Given the description of an element on the screen output the (x, y) to click on. 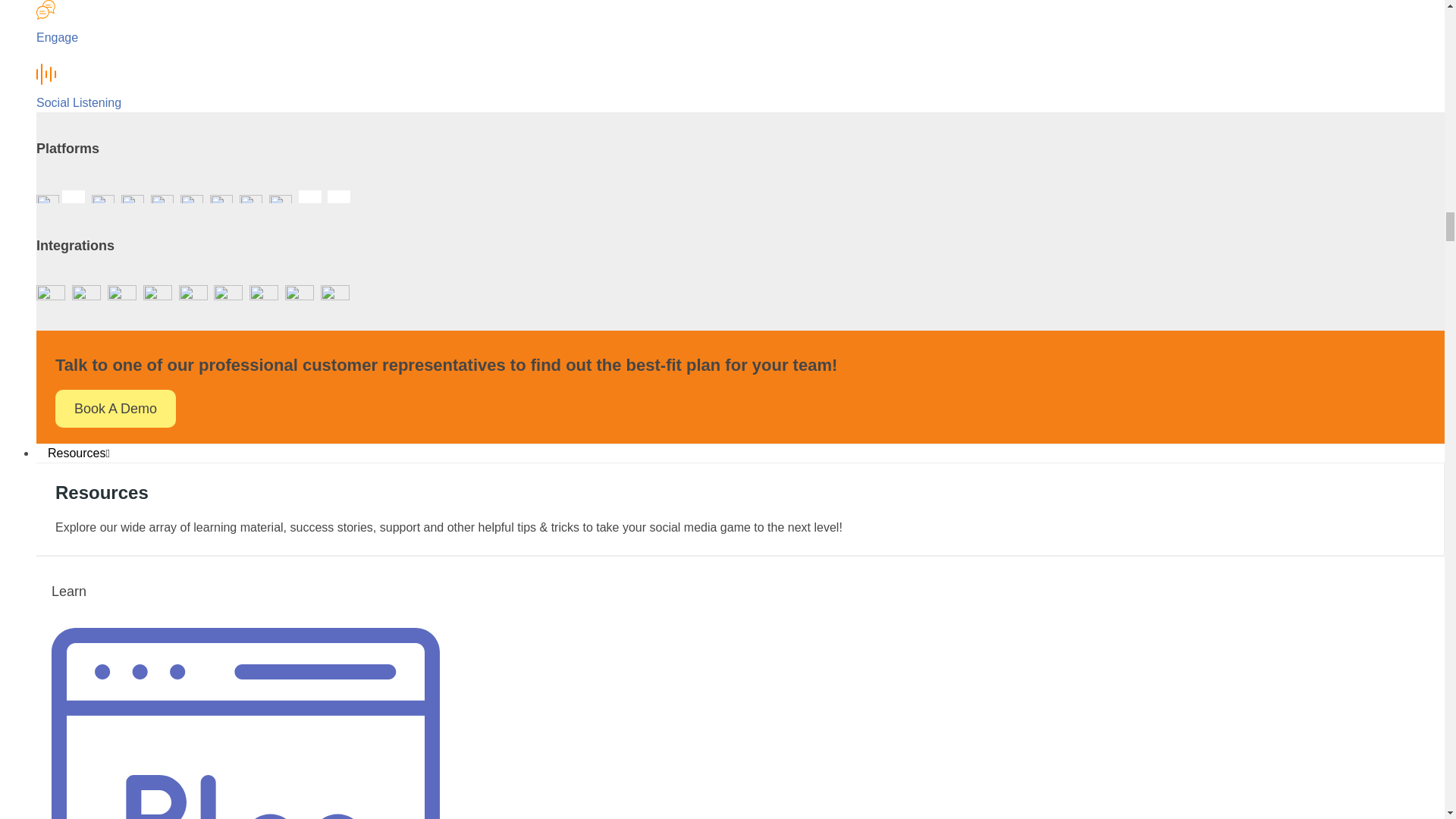
Engage (57, 37)
Social Listening (78, 102)
